Given the description of an element on the screen output the (x, y) to click on. 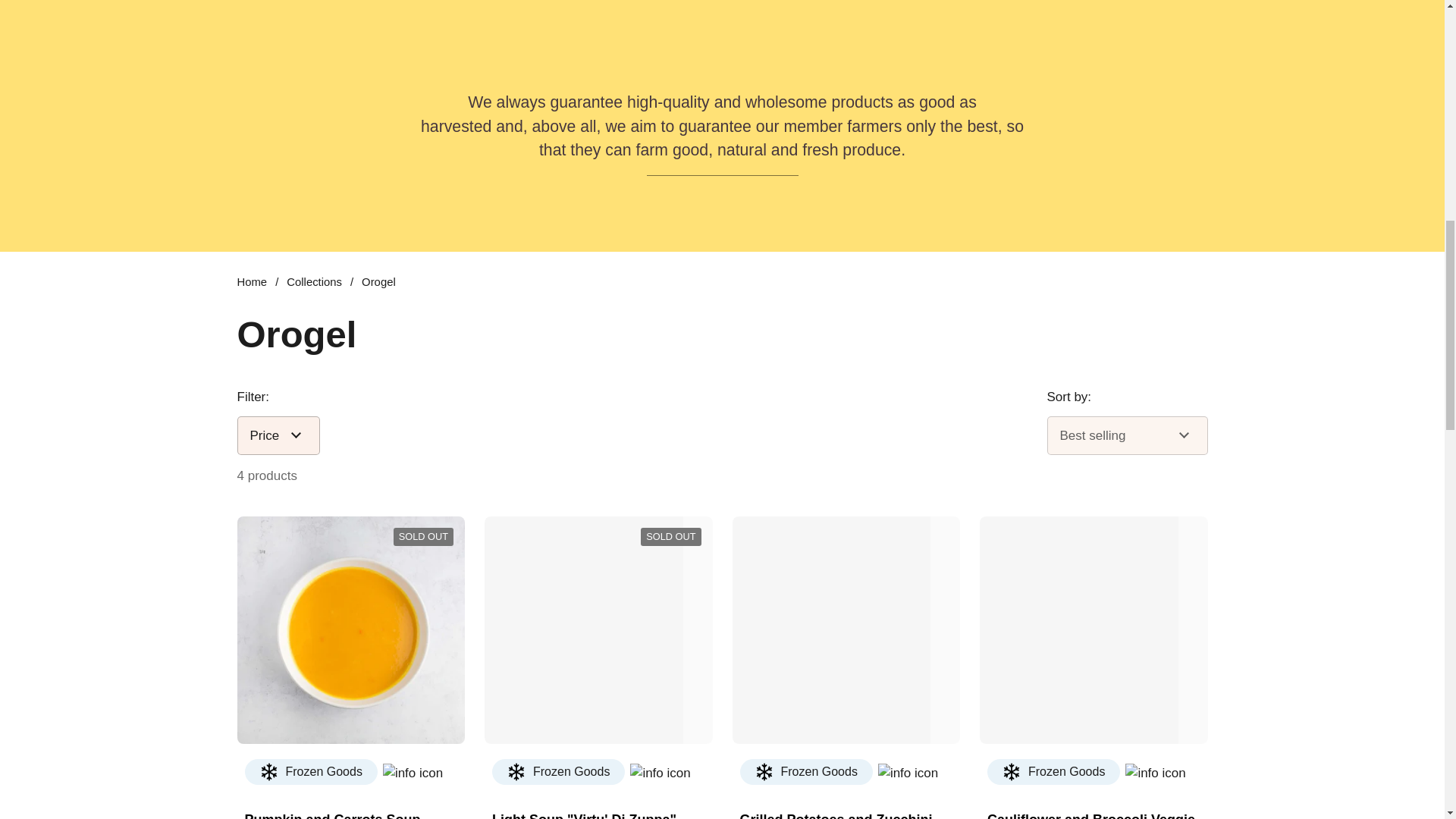
Pumpkin and Carrots Soup (332, 814)
This product is FROZENGOOD (558, 771)
This product is FROZENGOOD (310, 771)
Light Soup "Virtu' Di Zuppa" (584, 814)
Grilled Potatoes and Zucchini Mix "Fantasia" (846, 814)
This product is FROZENGOOD (805, 771)
This product is FROZENGOOD (1053, 771)
